Given the description of an element on the screen output the (x, y) to click on. 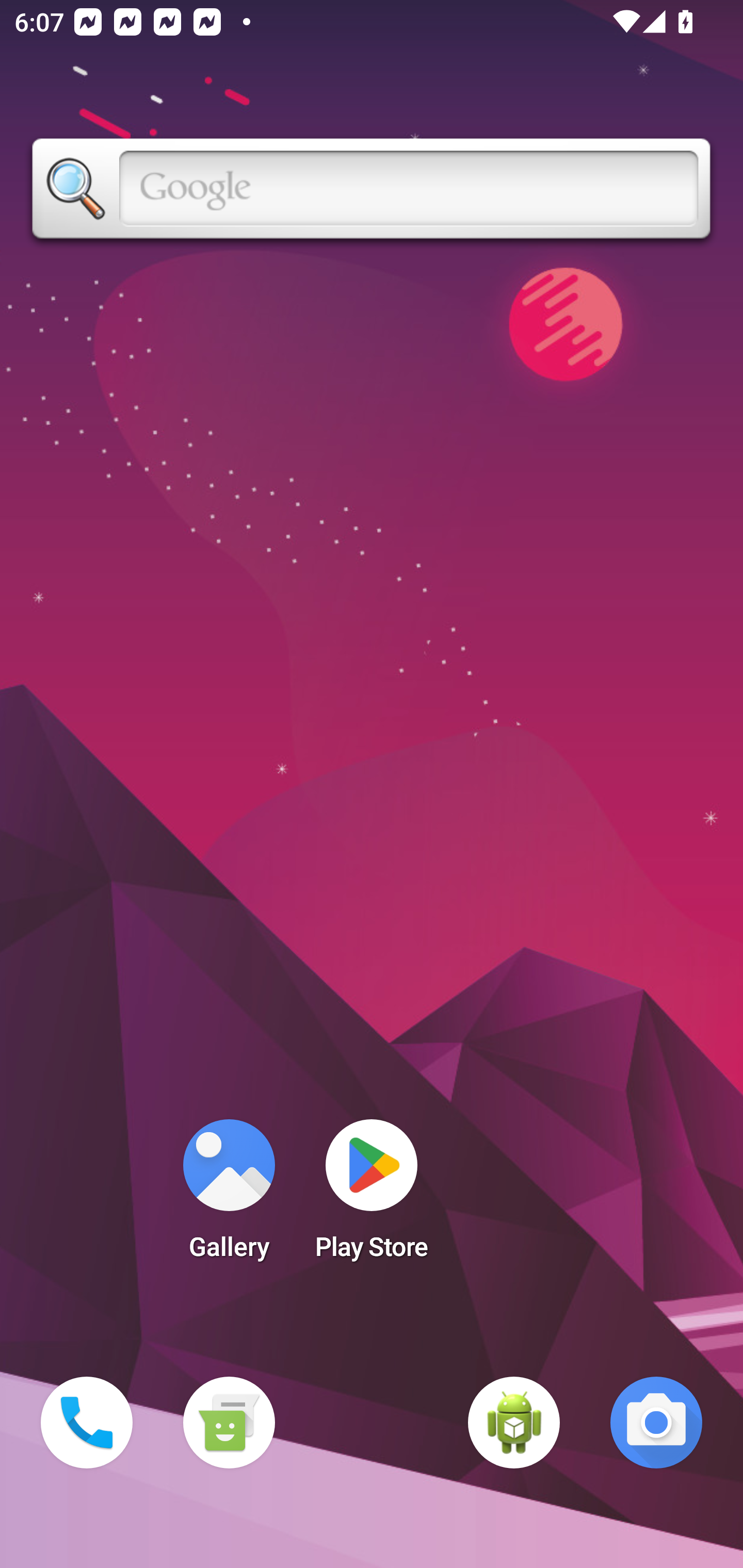
Gallery (228, 1195)
Play Store (371, 1195)
Phone (86, 1422)
Messaging (228, 1422)
WebView Browser Tester (513, 1422)
Camera (656, 1422)
